Given the description of an element on the screen output the (x, y) to click on. 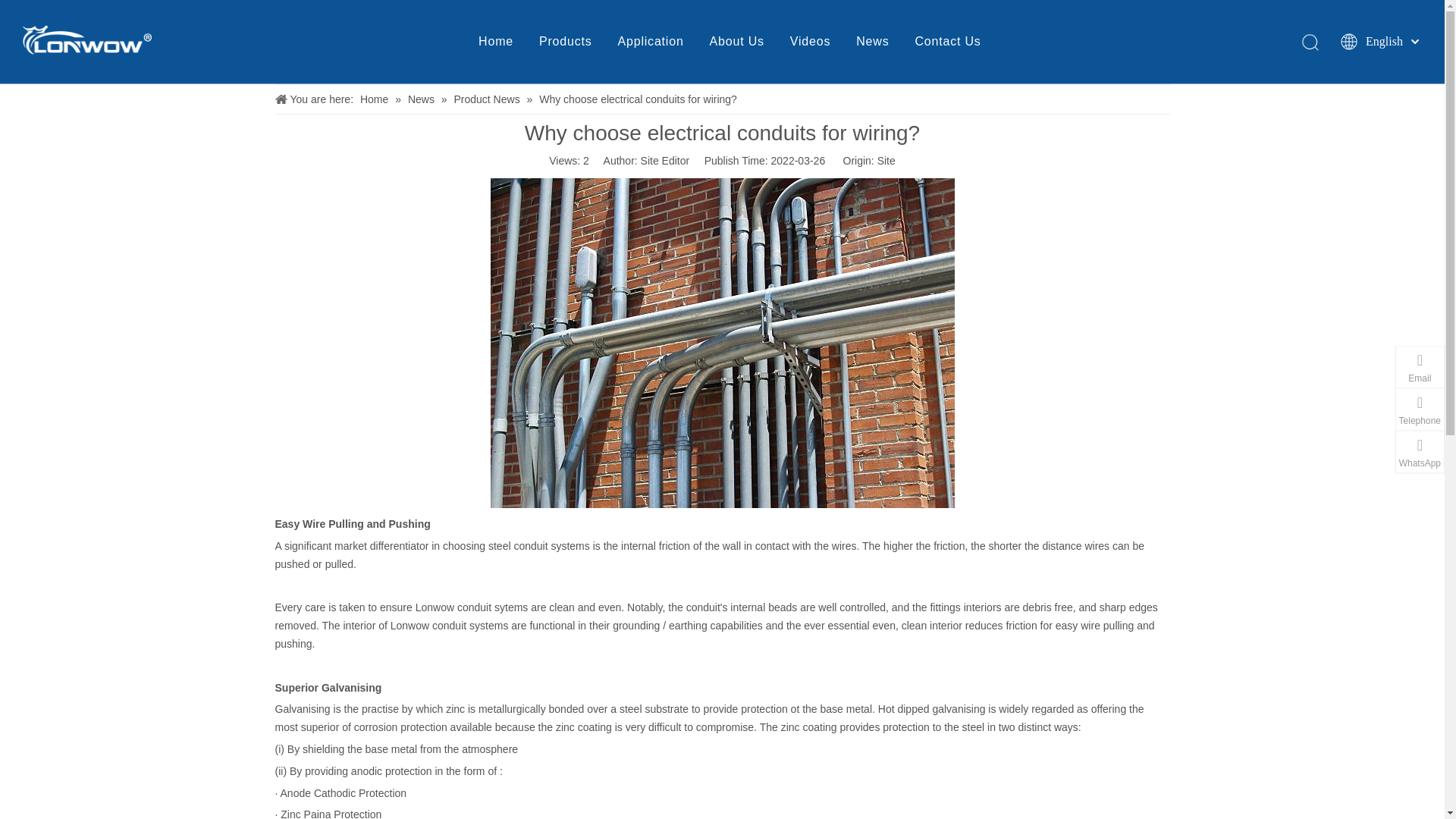
Email (1364, 370)
About Us (737, 41)
News (422, 99)
weibiaoti (87, 39)
Site (886, 160)
Application (650, 41)
Home (375, 99)
Products (565, 41)
Videos (809, 41)
Contact Us (946, 41)
Product News (487, 99)
Home (496, 41)
Tel (1366, 412)
WhatsApp (1352, 455)
News (872, 41)
